Given the description of an element on the screen output the (x, y) to click on. 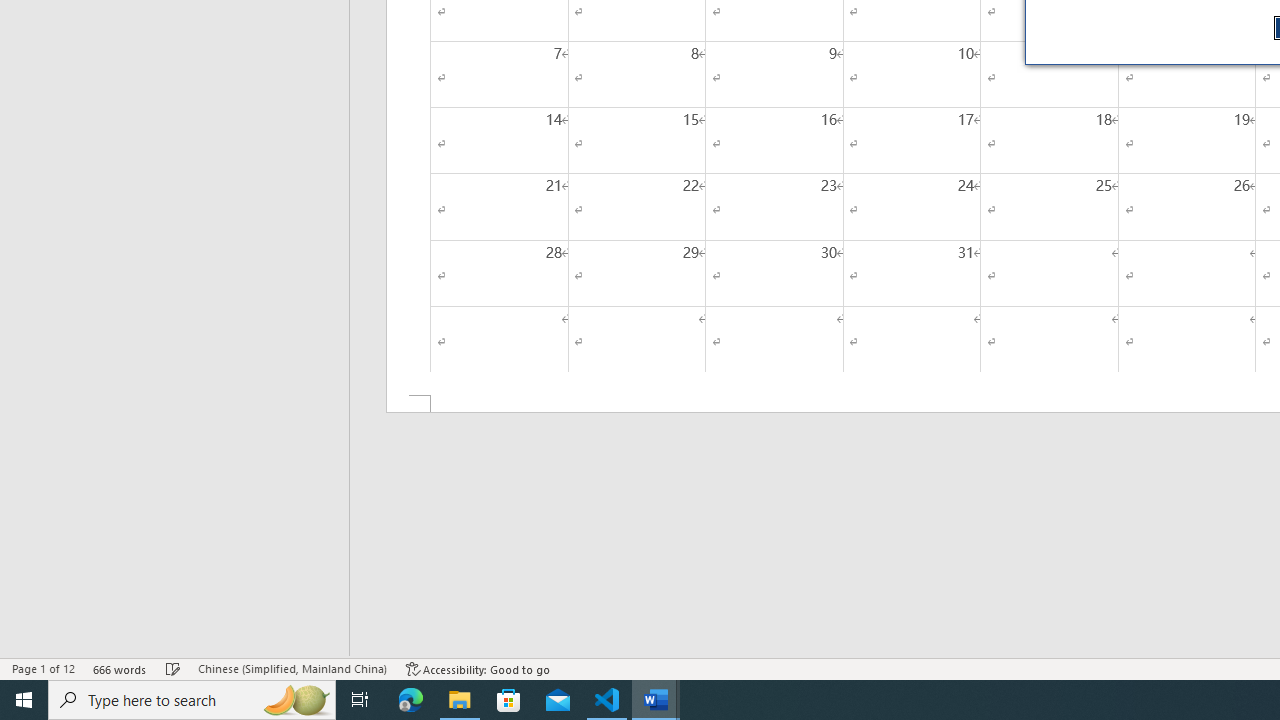
Word - 2 running windows (656, 699)
Page Number Page 1 of 12 (43, 668)
File Explorer - 1 running window (460, 699)
Word Count 666 words (119, 668)
